Given the description of an element on the screen output the (x, y) to click on. 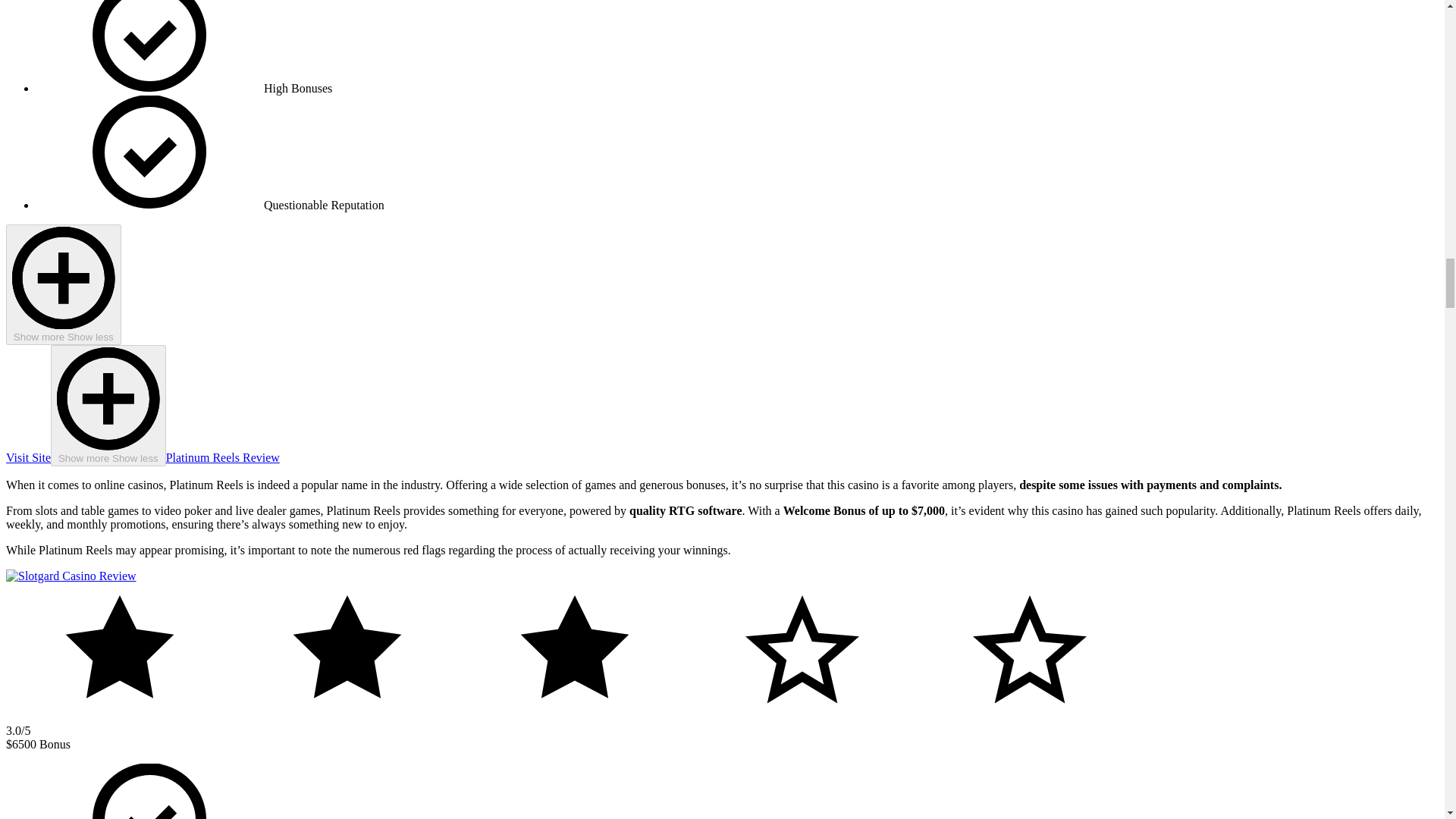
Visit Site (27, 457)
Show more Show less (62, 284)
